Given the description of an element on the screen output the (x, y) to click on. 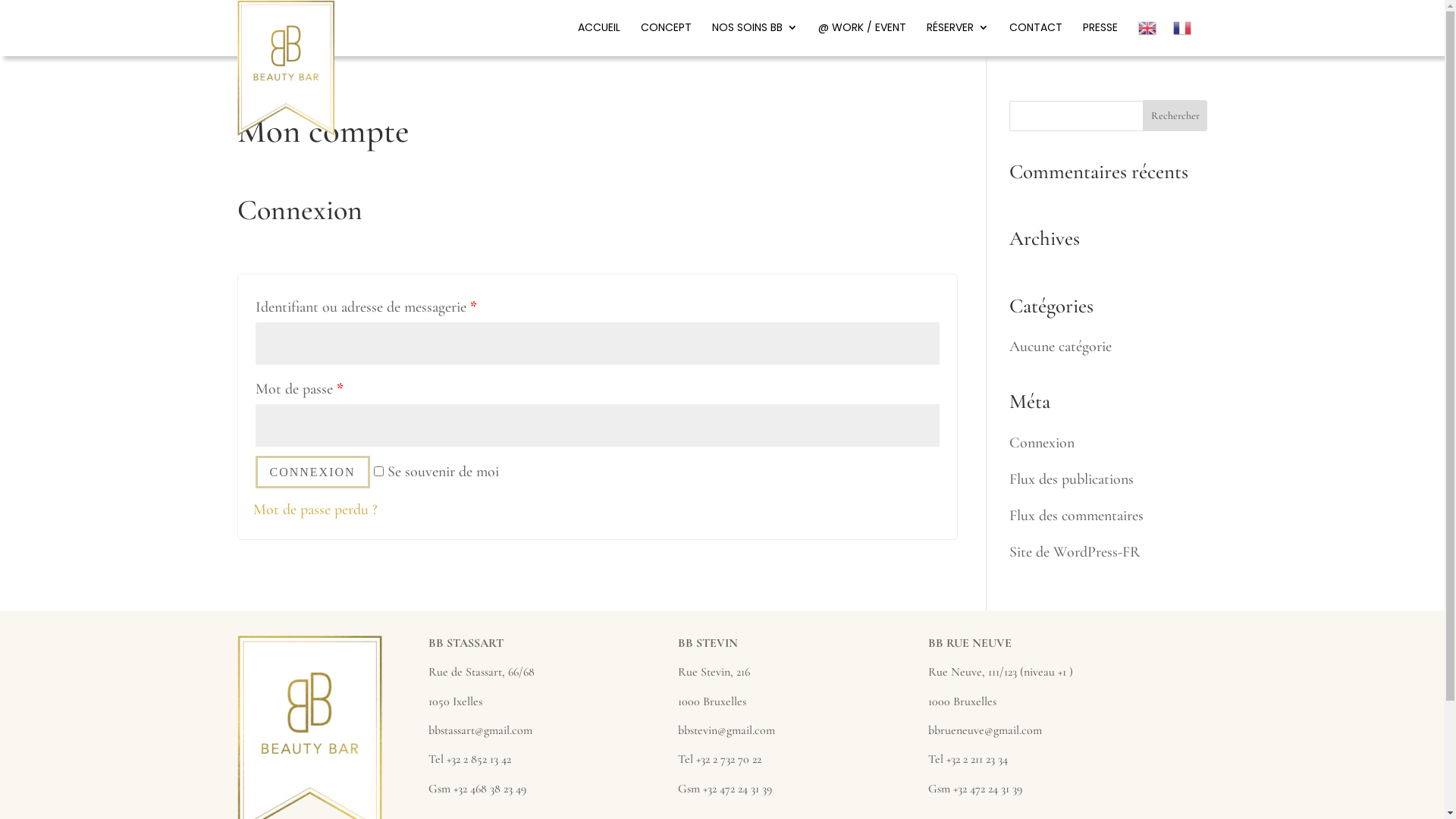
CONTACT Element type: text (1034, 36)
CONNEXION Element type: text (311, 471)
Connexion Element type: text (1041, 442)
NOS SOINS BB Element type: text (754, 36)
French Element type: hover (1181, 37)
Flux des publications Element type: text (1071, 479)
English Element type: hover (1146, 37)
Flux des commentaires Element type: text (1076, 515)
PRESSE Element type: text (1099, 36)
Mot de passe perdu ? Element type: text (315, 509)
ACCUEIL Element type: text (598, 36)
bbrueneuve@gmail.com Element type: text (984, 729)
Rechercher Element type: text (1175, 115)
@ WORK / EVENT Element type: text (861, 36)
CONCEPT Element type: text (665, 36)
Site de WordPress-FR Element type: text (1074, 551)
